Given the description of an element on the screen output the (x, y) to click on. 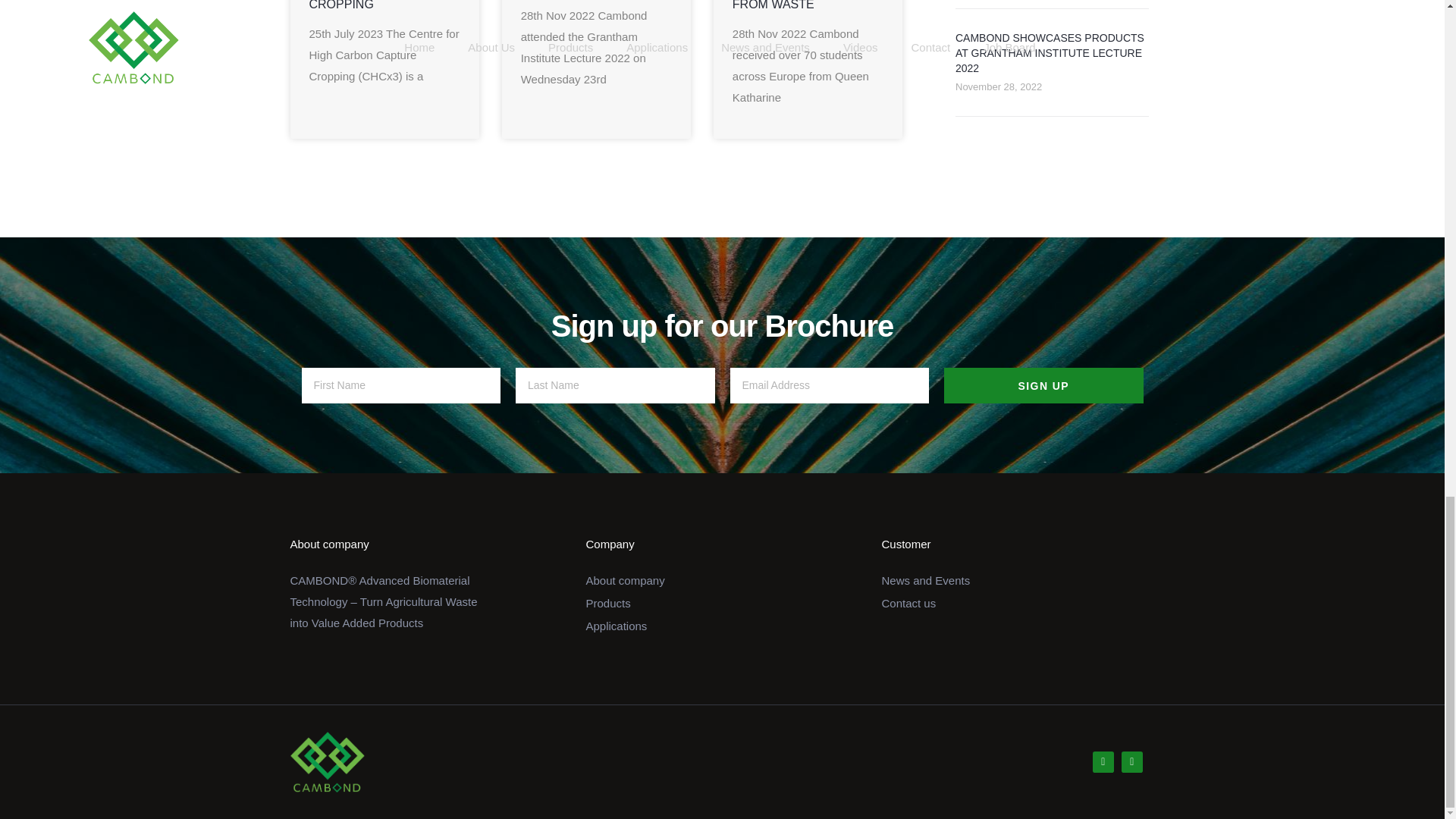
Page 1 (384, 601)
